Given the description of an element on the screen output the (x, y) to click on. 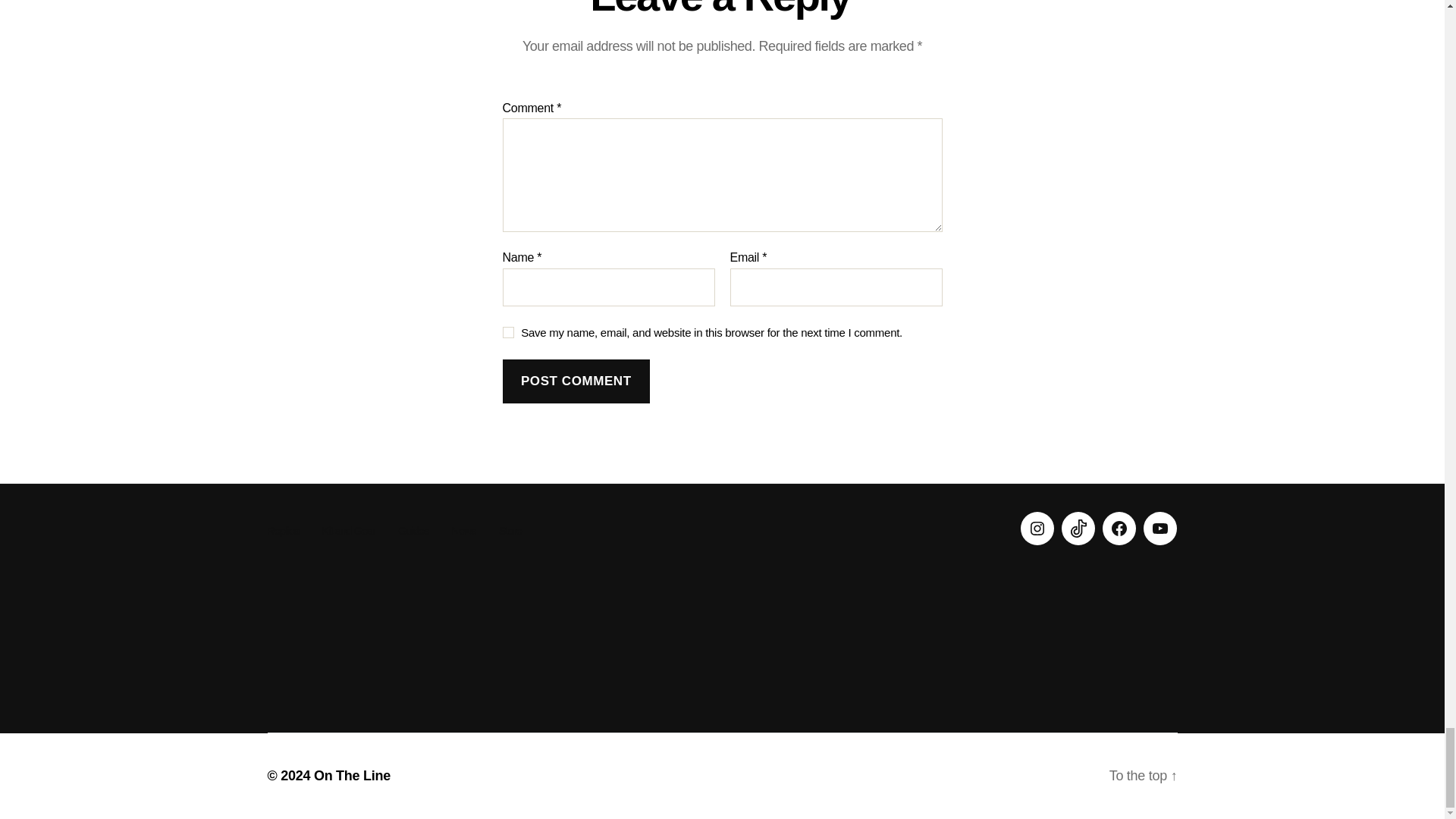
Post Comment (575, 381)
yes (507, 332)
